Given the description of an element on the screen output the (x, y) to click on. 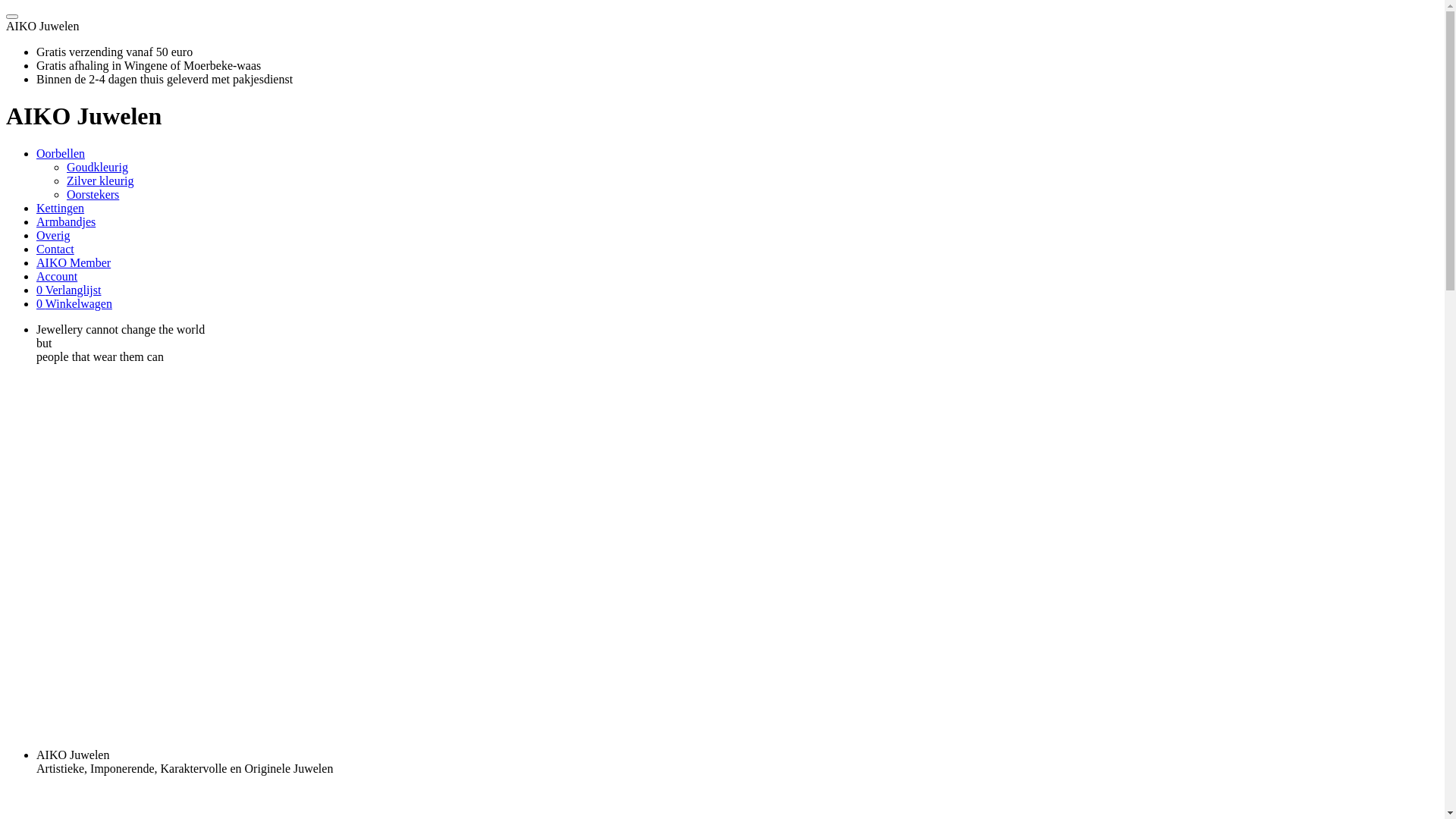
Armbandjes Element type: text (65, 221)
Oorbellen Element type: text (60, 153)
Oorstekers Element type: text (92, 194)
0 Verlanglijst Element type: text (68, 289)
0 Winkelwagen Element type: text (74, 303)
Zilver kleurig Element type: text (99, 180)
Contact Element type: text (55, 248)
Goudkleurig Element type: text (97, 166)
Kettingen Element type: text (60, 207)
AIKO Member Element type: text (73, 262)
Account Element type: text (56, 275)
Overig Element type: text (52, 235)
